Given the description of an element on the screen output the (x, y) to click on. 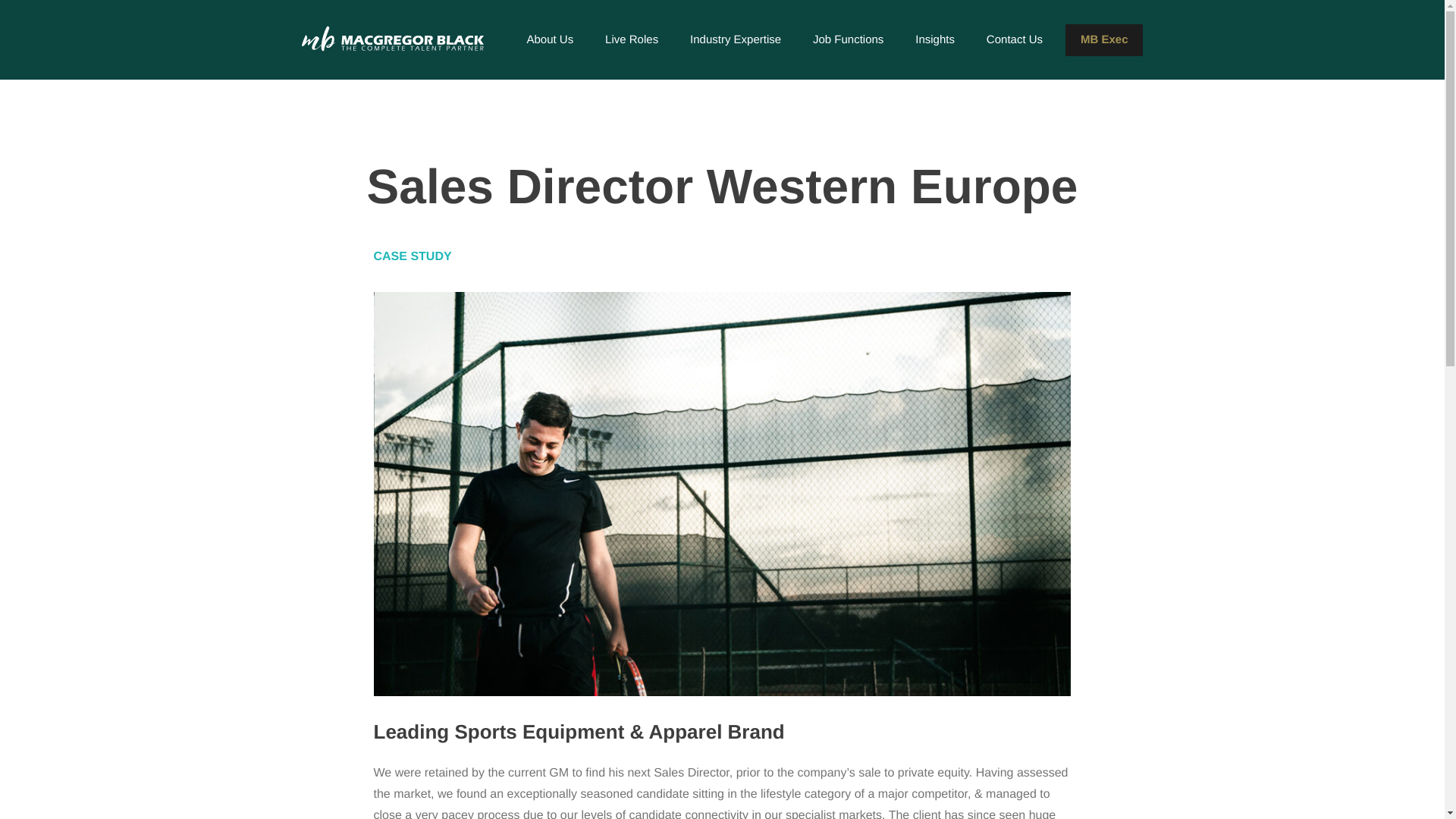
MB Exec (1103, 40)
Industry Expertise (735, 39)
Live Roles (630, 39)
About Us (549, 39)
Job Functions (847, 39)
About Us (549, 39)
Insights (934, 39)
Contact Us (1013, 39)
Job Functions (847, 39)
Insights (934, 39)
MB Exec (1103, 40)
Live Roles (630, 39)
Industry Expertise (735, 39)
Contact Us (1013, 39)
